Given the description of an element on the screen output the (x, y) to click on. 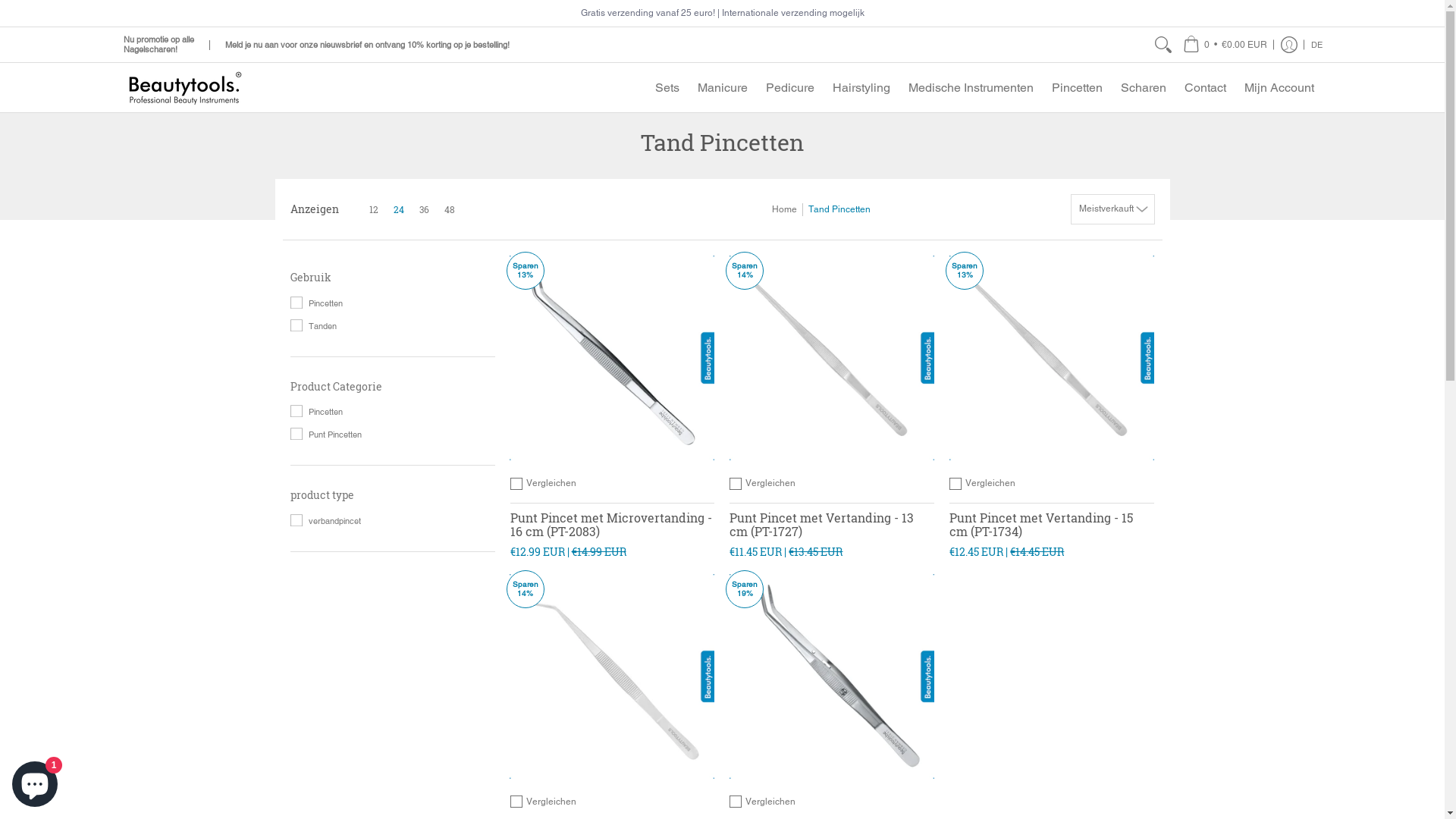
Vergleichen Element type: text (770, 801)
Sets Element type: text (667, 87)
Punt Pincet met Vertanding - 13 cm (PT-1727) Element type: text (821, 524)
Tand Pincetten Element type: text (839, 208)
Login Element type: hover (1289, 44)
Contact Element type: text (1204, 87)
Onlineshop-Chat von Shopify Element type: hover (34, 780)
Home Element type: text (784, 208)
Punt Pincet met Microvertanding - 16 cm (PT-2083) Element type: text (610, 524)
Beautytools - Belgium Element type: hover (183, 87)
Kaufen Punt Pincet Met Microvertanding - 15 cm (PT-1024) Element type: hover (611, 676)
Mijn Account Element type: text (1278, 87)
Pincetten Element type: text (1076, 87)
Vergleichen Element type: text (770, 483)
Kaufen Punt Pincet met Vertanding - 13 cm (PT-1727) Element type: hover (831, 357)
48 Element type: text (449, 209)
Vergleichen Element type: text (551, 801)
Manicure Element type: text (722, 87)
Scharen Element type: text (1143, 87)
Pincetten Element type: text (315, 411)
Suchen Element type: hover (1162, 44)
DE Element type: text (1316, 44)
Pedicure Element type: text (790, 87)
Punt Pincet met Vertanding - 15 cm (PT-1734) Element type: text (1040, 524)
Medische Instrumenten Element type: text (970, 87)
Pincetten Element type: text (315, 302)
Vergleichen Element type: text (551, 483)
36 Element type: text (423, 209)
Kaufen Punt Pincet met Vertanding - 15 cm (PT-1734) Element type: hover (1051, 357)
Hairstyling Element type: text (861, 87)
12 Element type: text (361, 209)
Tanden Element type: text (312, 325)
Kaufen Punt Pincet met Microvertanding - 16 cm (PT-2083) Element type: hover (611, 357)
Punt Pincetten Element type: text (325, 434)
verbandpincet Element type: text (324, 520)
24 Element type: text (398, 209)
Vergleichen Element type: text (990, 483)
